Given the description of an element on the screen output the (x, y) to click on. 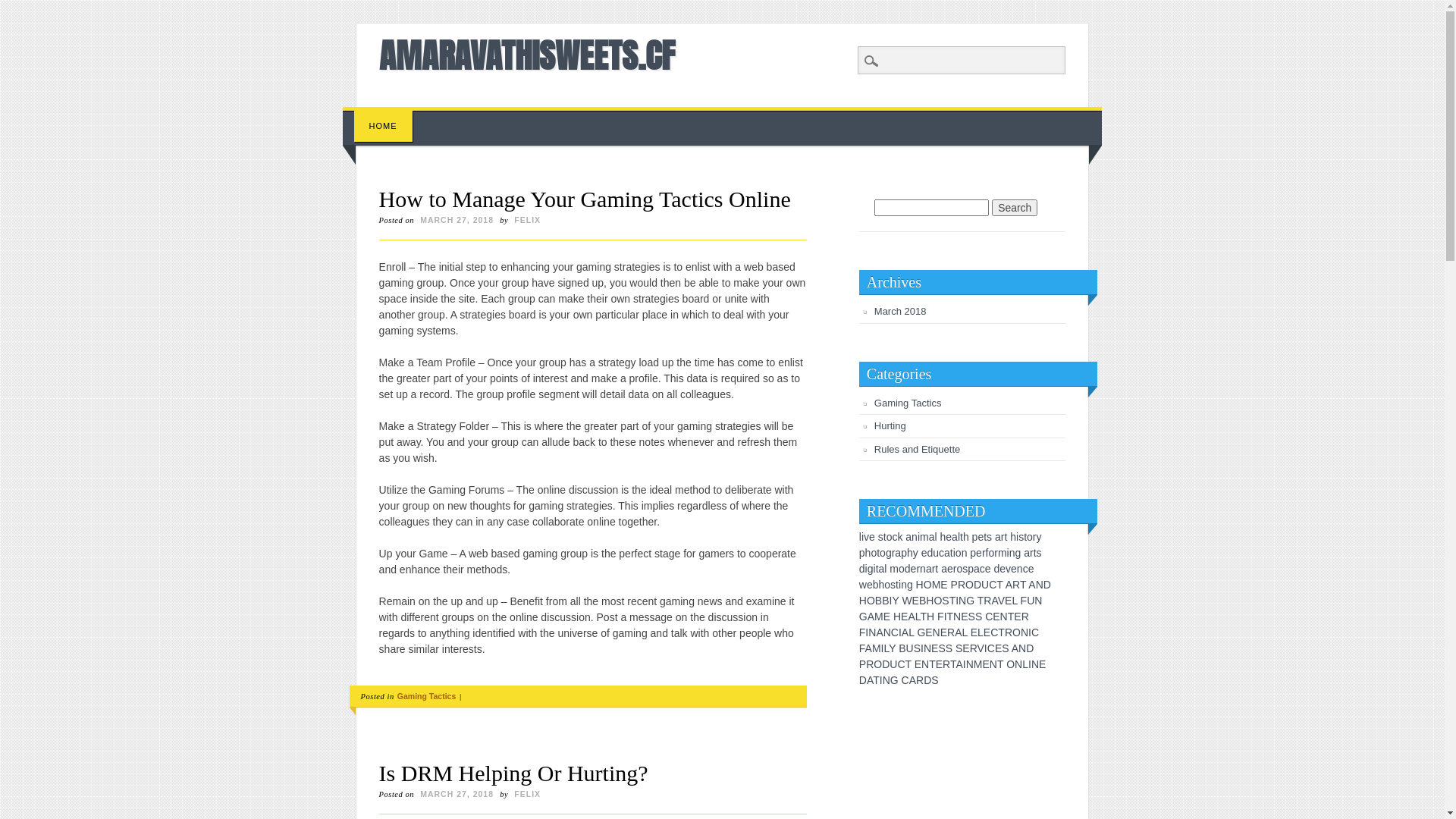
I Element type: text (1029, 664)
O Element type: text (927, 584)
h Element type: text (943, 536)
L Element type: text (917, 616)
Hurting Element type: text (890, 425)
H Element type: text (919, 584)
E Element type: text (963, 616)
Gaming Tactics Element type: text (907, 402)
C Element type: text (1034, 632)
W Element type: text (906, 600)
l Element type: text (935, 536)
i Element type: text (862, 536)
v Element type: text (1007, 568)
y Element type: text (915, 552)
y Element type: text (1038, 536)
B Element type: text (901, 648)
i Element type: text (1008, 552)
N Element type: text (886, 680)
t Element type: text (1005, 536)
V Element type: text (980, 648)
B Element type: text (878, 600)
t Element type: text (984, 536)
e Element type: text (988, 568)
A Element type: text (957, 632)
p Element type: text (975, 536)
d Element type: text (862, 568)
E Element type: text (886, 616)
P Element type: text (953, 584)
E Element type: text (986, 632)
O Element type: text (1010, 664)
a Element type: text (944, 568)
g Element type: text (870, 568)
p Element type: text (862, 552)
O Element type: text (969, 584)
H Element type: text (929, 600)
N Element type: text (924, 664)
U Element type: text (1030, 600)
E Element type: text (934, 648)
T Element type: text (875, 680)
C Element type: text (988, 616)
T Element type: text (980, 600)
R Element type: text (1025, 616)
A Element type: text (994, 600)
I Element type: text (956, 600)
S Element type: text (916, 648)
o Element type: text (991, 552)
N Element type: text (887, 632)
o Element type: text (873, 552)
m Element type: text (923, 536)
H Element type: text (896, 616)
P Element type: text (862, 664)
T Element type: text (952, 600)
e Element type: text (1002, 568)
A Element type: text (868, 648)
U Element type: text (909, 648)
R Element type: text (950, 632)
o Element type: text (889, 536)
C Element type: text (894, 632)
I Element type: text (985, 648)
E Element type: text (1041, 664)
A Element type: text (958, 664)
M Element type: text (878, 616)
S Element type: text (978, 616)
I Element type: text (882, 648)
FELIX Element type: text (527, 793)
a Element type: text (931, 536)
March 2018 Element type: text (900, 310)
k Element type: text (899, 536)
p Element type: text (970, 568)
G Element type: text (894, 680)
o Element type: text (882, 552)
d Element type: text (907, 568)
A Element type: text (869, 680)
I Element type: text (964, 664)
t Element type: text (1024, 536)
E Element type: text (928, 632)
S Element type: text (958, 648)
A Element type: text (1014, 648)
t Element type: text (1034, 552)
HOME Element type: text (383, 125)
w Element type: text (862, 584)
C Element type: text (900, 664)
G Element type: text (863, 616)
n Element type: text (903, 584)
D Element type: text (885, 664)
S Element type: text (941, 648)
R Element type: text (1008, 632)
r Element type: text (995, 552)
t Element type: text (876, 568)
n Element type: text (914, 536)
N Element type: text (1022, 648)
a Element type: text (908, 536)
R Element type: text (946, 664)
T Element type: text (950, 616)
M Element type: text (876, 648)
Rules and Etiquette Element type: text (917, 449)
t Element type: text (884, 536)
O Element type: text (870, 600)
L Element type: text (1013, 600)
T Element type: text (953, 664)
C Element type: text (990, 648)
e Element type: text (980, 536)
M Element type: text (936, 584)
h Element type: text (1013, 536)
C Element type: text (993, 632)
A Element type: text (912, 680)
e Element type: text (1013, 568)
H Element type: text (862, 600)
N Element type: text (1024, 632)
r Element type: text (955, 568)
Y Element type: text (891, 648)
D Element type: text (977, 584)
s Element type: text (892, 584)
B Element type: text (884, 600)
e Element type: text (913, 568)
How to Manage Your Gaming Tactics Online Element type: text (584, 198)
E Element type: text (943, 632)
c Element type: text (894, 536)
Search Element type: text (22, 8)
F Element type: text (862, 632)
o Element type: text (901, 568)
O Element type: text (1016, 632)
F Element type: text (862, 648)
b Element type: text (875, 584)
I Element type: text (1029, 632)
e Element type: text (950, 568)
D Element type: text (1047, 584)
L Element type: text (980, 632)
e Element type: text (872, 536)
R Element type: text (869, 664)
A Element type: text (1008, 584)
C Element type: text (905, 680)
A Element type: text (1031, 584)
L Element type: text (964, 632)
A Element type: text (870, 616)
a Element type: text (928, 568)
V Element type: text (1000, 600)
a Element type: text (897, 552)
Y Element type: text (894, 600)
I Element type: text (945, 616)
i Element type: text (866, 568)
I Element type: text (889, 600)
h Element type: text (966, 536)
e Element type: text (924, 552)
o Element type: text (959, 568)
g Element type: text (909, 584)
L Element type: text (1025, 664)
T Element type: text (999, 584)
a Element type: text (947, 552)
r Element type: text (1002, 536)
N Element type: text (927, 648)
t Element type: text (896, 584)
N Element type: text (969, 664)
i Element type: text (918, 536)
E Element type: text (903, 616)
E Element type: text (938, 664)
r Element type: text (983, 552)
S Element type: text (944, 600)
n Element type: text (1019, 568)
L Element type: text (885, 648)
h Element type: text (909, 552)
r Element type: text (917, 568)
g Element type: text (888, 552)
c Element type: text (941, 552)
v Element type: text (866, 536)
p Element type: text (903, 552)
d Element type: text (996, 568)
t Element type: text (877, 552)
m Element type: text (1002, 552)
E Element type: text (985, 664)
O Element type: text (937, 600)
a Element type: text (954, 536)
I Element type: text (921, 648)
G Element type: text (920, 632)
MARCH 27, 2018 Element type: text (456, 793)
N Element type: text (1018, 664)
MARCH 27, 2018 Element type: text (456, 219)
H Element type: text (930, 616)
i Element type: text (874, 568)
n Element type: text (964, 552)
l Element type: text (958, 536)
S Element type: text (948, 648)
h Element type: text (868, 552)
N Element type: text (956, 616)
Search Element type: text (1014, 207)
E Element type: text (965, 648)
u Element type: text (935, 552)
L Element type: text (910, 632)
S Element type: text (1004, 648)
F Element type: text (1023, 600)
m Element type: text (893, 568)
r Element type: text (893, 552)
N Element type: text (1037, 600)
U Element type: text (984, 584)
T Element type: text (923, 616)
E Element type: text (1007, 600)
O Element type: text (877, 664)
t Element type: text (961, 536)
a Element type: text (976, 568)
T Element type: text (1000, 632)
U Element type: text (893, 664)
c Element type: text (1025, 568)
n Element type: text (1012, 552)
e Element type: text (978, 552)
R Element type: text (973, 648)
AMARAVATHISWEETS.CF Element type: text (526, 55)
N Element type: text (1003, 616)
s Element type: text (1020, 536)
T Element type: text (1022, 584)
s Element type: text (964, 568)
S Element type: text (971, 616)
g Element type: text (1018, 552)
F Element type: text (940, 616)
E Element type: text (1016, 616)
c Element type: text (982, 568)
s Element type: text (880, 536)
o Element type: text (887, 584)
Skip to content Element type: text (377, 114)
N Element type: text (1039, 584)
T Element type: text (931, 664)
a Element type: text (1026, 552)
E Element type: text (915, 600)
e Element type: text (869, 584)
h Element type: text (881, 584)
t Element type: text (936, 568)
N Element type: text (993, 664)
o Element type: text (958, 552)
r Element type: text (1034, 536)
Is DRM Helping Or Hurting? Element type: text (513, 772)
i Element type: text (954, 552)
l Element type: text (885, 568)
i Element type: text (899, 584)
f Element type: text (986, 552)
N Element type: text (936, 632)
E Element type: text (943, 584)
p Element type: text (972, 552)
R Element type: text (919, 680)
A Element type: text (878, 632)
T Element type: text (1000, 664)
Gaming Tactics Element type: text (426, 695)
E Element type: text (917, 664)
FELIX Element type: text (527, 219)
R Element type: text (961, 584)
D Element type: text (1029, 648)
E Element type: text (995, 616)
N Element type: text (1034, 664)
o Element type: text (1029, 536)
N Element type: text (871, 632)
a Element type: text (881, 568)
D Element type: text (862, 680)
I Element type: text (880, 680)
l Element type: text (860, 536)
E Element type: text (997, 648)
C Element type: text (992, 584)
D Element type: text (927, 680)
M Element type: text (977, 664)
I Element type: text (899, 632)
t Element type: text (951, 552)
G Element type: text (970, 600)
s Element type: text (988, 536)
R Element type: text (1015, 584)
E Element type: text (973, 632)
B Element type: text (922, 600)
d Element type: text (929, 552)
e Element type: text (948, 536)
A Element type: text (904, 632)
r Element type: text (933, 568)
i Element type: text (1017, 536)
R Element type: text (987, 600)
N Element type: text (962, 600)
a Element type: text (997, 536)
T Element type: text (908, 664)
e Element type: text (1031, 568)
S Element type: text (934, 680)
I Element type: text (866, 632)
n Element type: text (922, 568)
s Element type: text (1038, 552)
r Element type: text (1031, 552)
T Element type: text (1010, 616)
A Element type: text (910, 616)
